Given the description of an element on the screen output the (x, y) to click on. 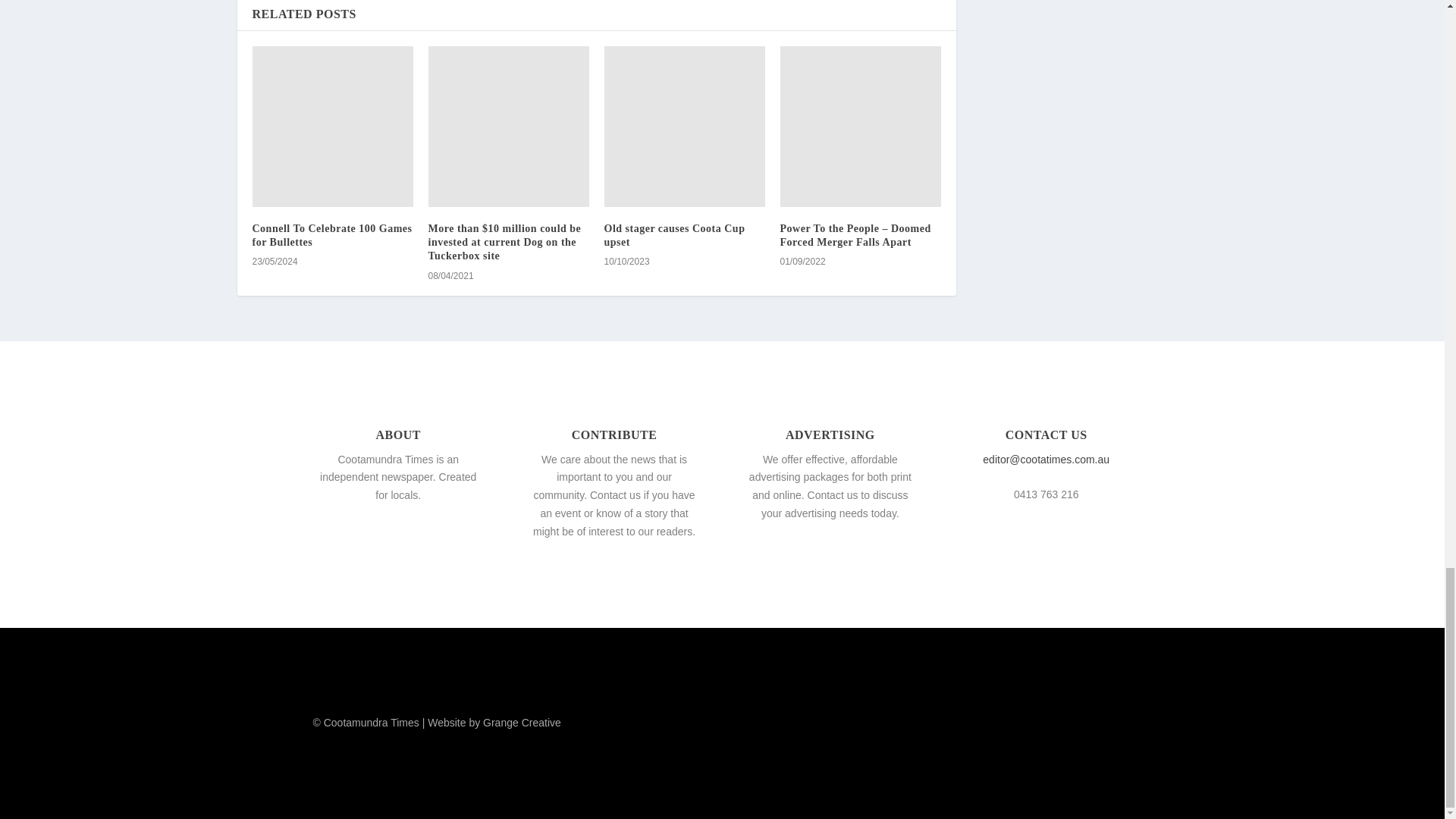
Connell To Celebrate 100 Games for Bullettes (331, 235)
Old stager causes Coota Cup upset (674, 235)
Connell To Celebrate 100 Games for Bullettes (331, 126)
